Given the description of an element on the screen output the (x, y) to click on. 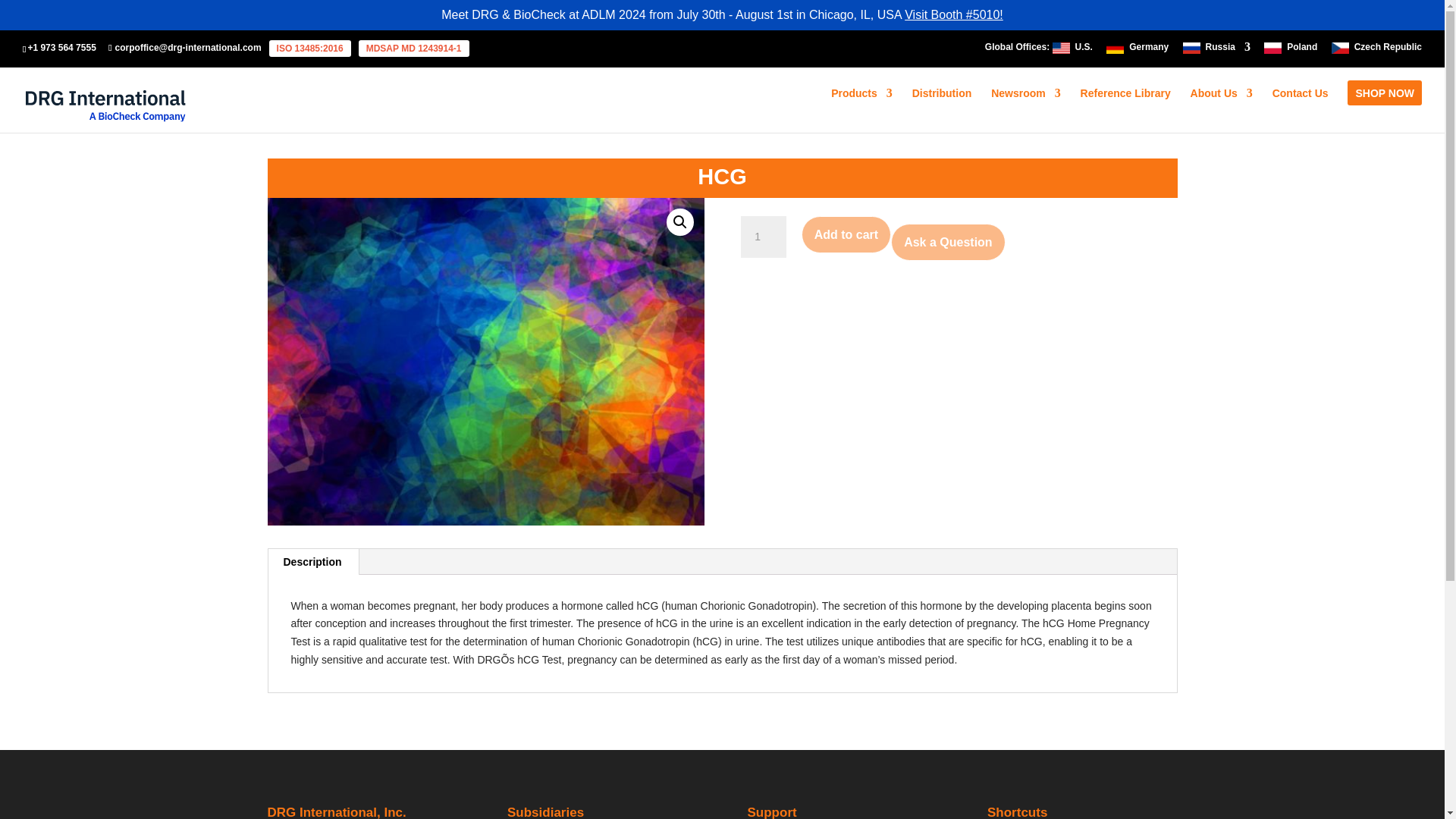
ISO 13485:2016 (309, 48)
About Us (1221, 109)
SHOP NOW (1384, 109)
Newsroom (1026, 109)
Czech Republic (1388, 50)
U.S. (1084, 50)
Contact Us (1299, 109)
Russia (1227, 50)
MDSAP MD 1243914-1 (413, 48)
Reference Library (1125, 109)
Qty (762, 237)
Germany (1149, 50)
Poland (1302, 50)
Distribution (942, 109)
